Given the description of an element on the screen output the (x, y) to click on. 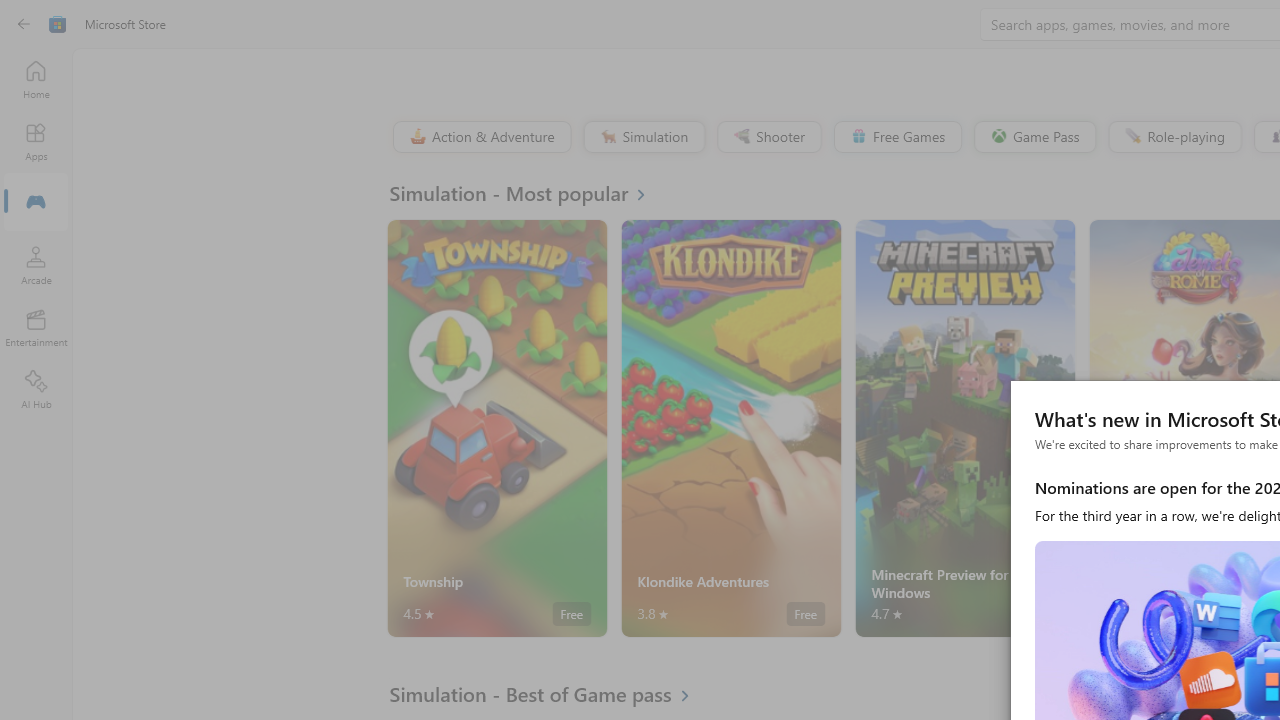
Shooter (767, 136)
Township. Average rating of 4.5 out of five stars. Free   (497, 427)
Simulation (643, 136)
See all  Simulation - Most popular (528, 192)
Free Games (897, 136)
Game Pass (1033, 136)
Role-playing (1174, 136)
